Given the description of an element on the screen output the (x, y) to click on. 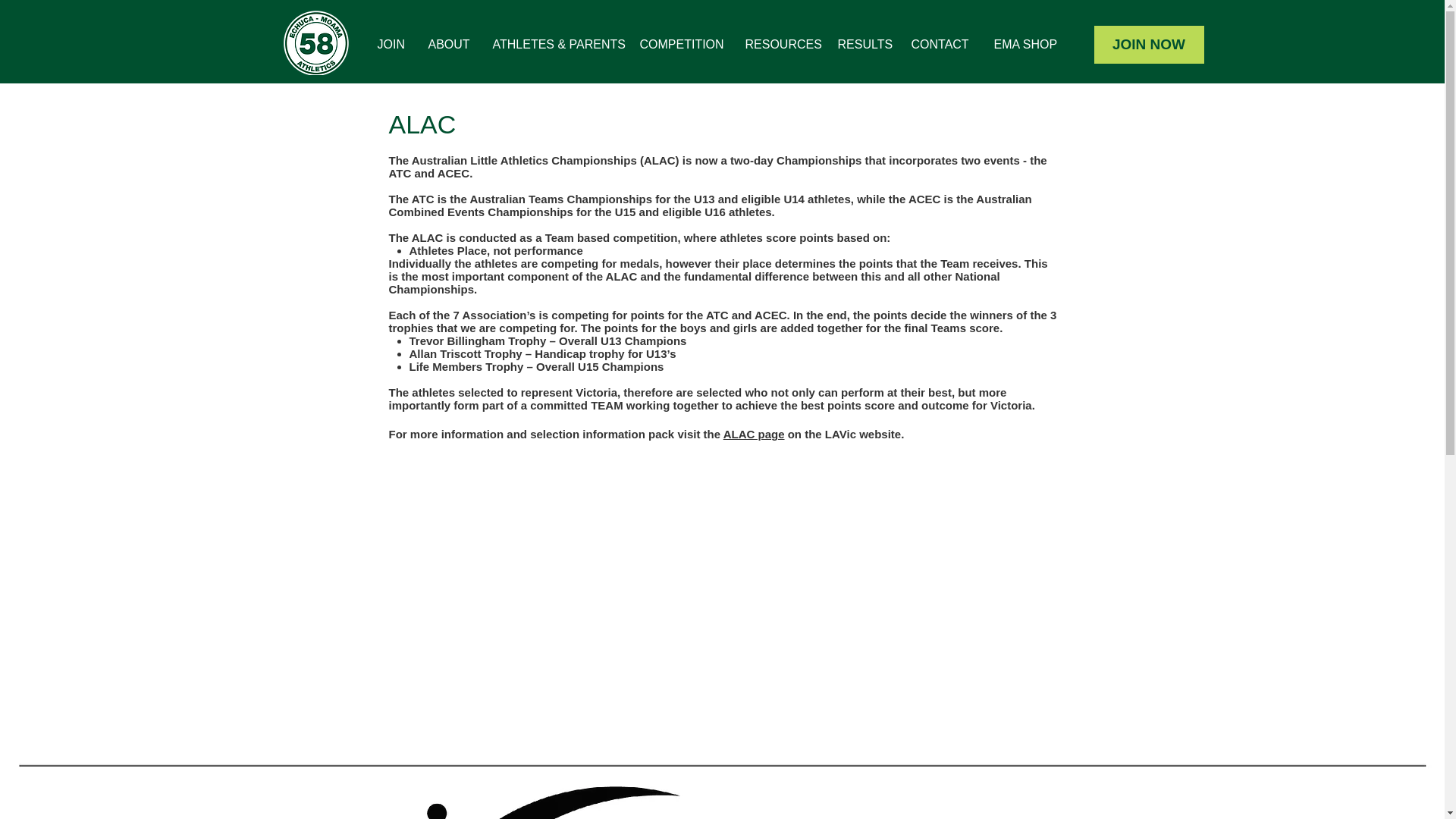
ALAC page (753, 433)
RESULTS (863, 44)
CONTACT (940, 44)
JOIN (390, 44)
EMA SHOP (1023, 44)
JOIN NOW (1148, 44)
